Given the description of an element on the screen output the (x, y) to click on. 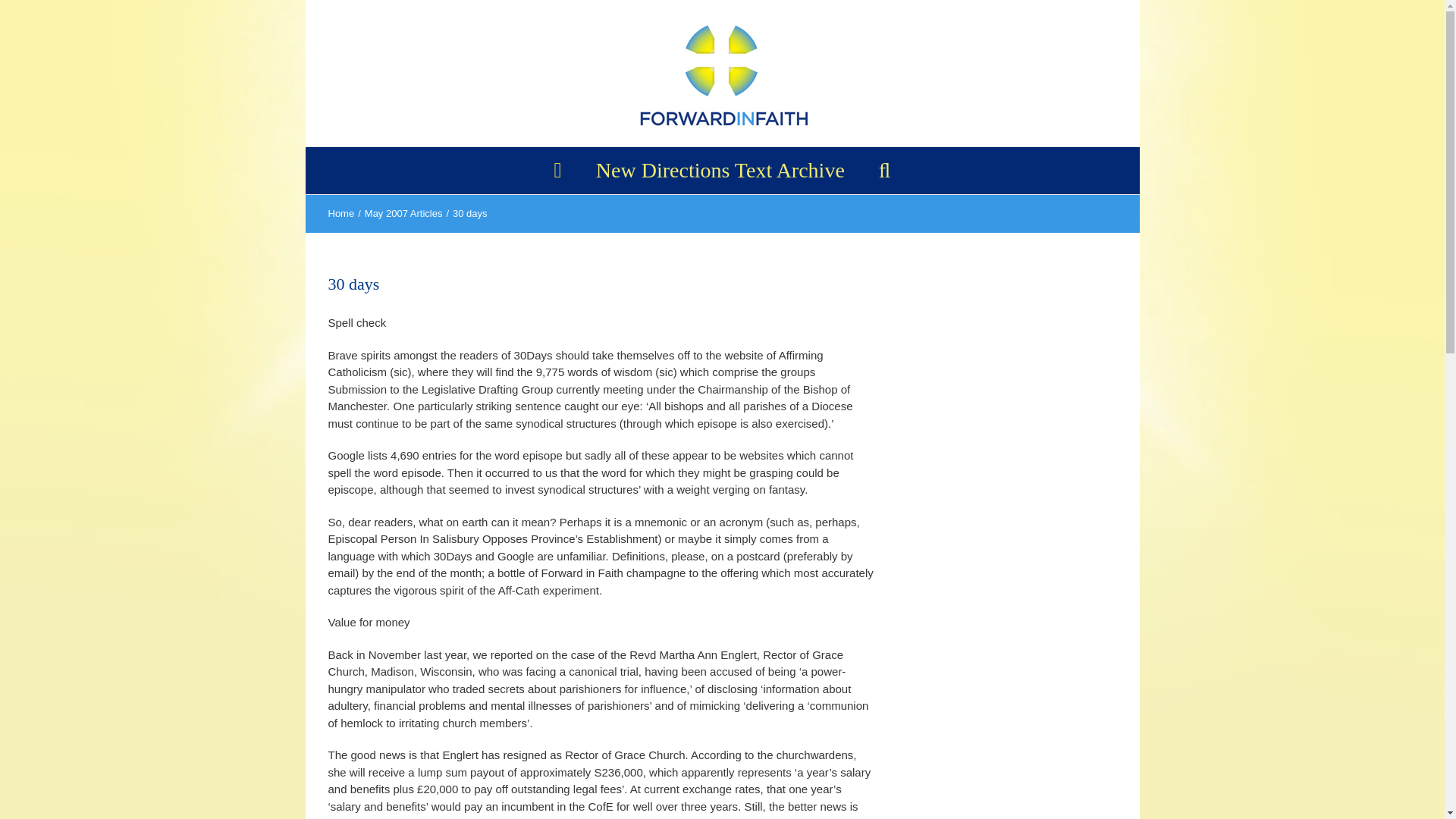
Home (340, 213)
New Directions Text Archive (719, 170)
New Directions Directions (719, 170)
May 2007 Articles (403, 213)
